Given the description of an element on the screen output the (x, y) to click on. 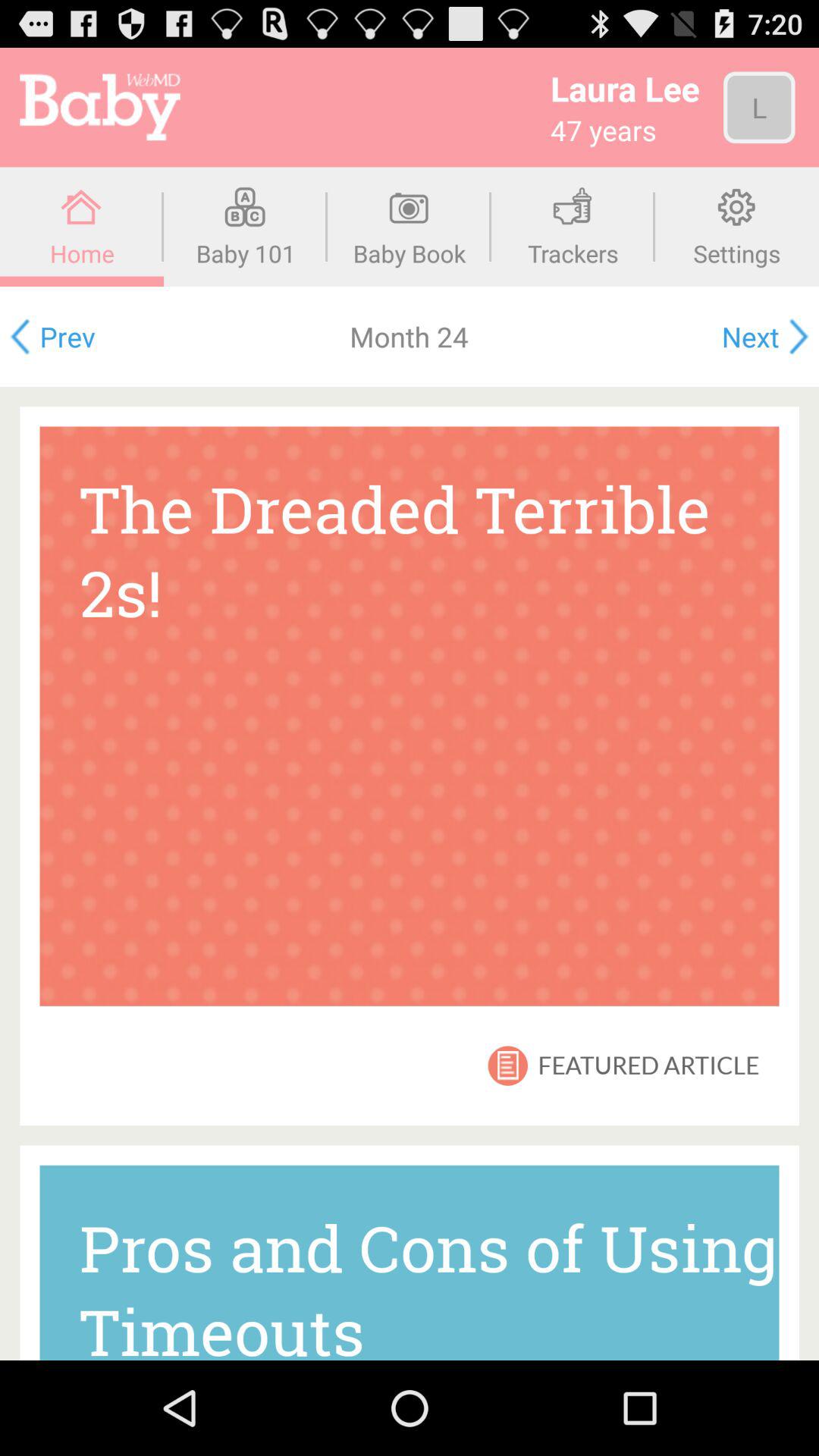
press the featured article item (648, 1065)
